Given the description of an element on the screen output the (x, y) to click on. 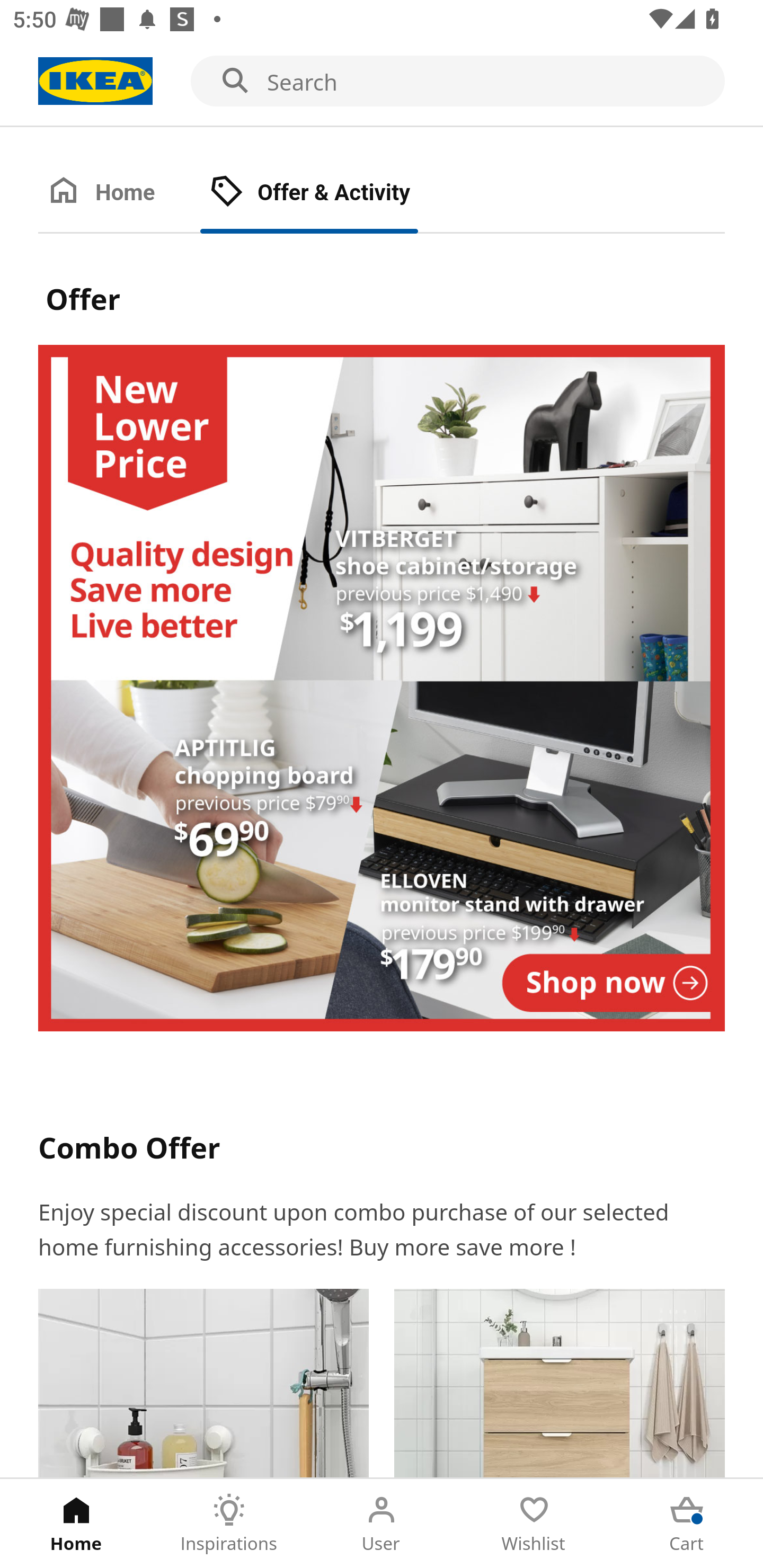
Search (381, 81)
Home
Tab 1 of 2 (118, 192)
Offer & Activity
Tab 2 of 2 (327, 192)
Home
Tab 1 of 5 (76, 1522)
Inspirations
Tab 2 of 5 (228, 1522)
User
Tab 3 of 5 (381, 1522)
Wishlist
Tab 4 of 5 (533, 1522)
Cart
Tab 5 of 5 (686, 1522)
